Given the description of an element on the screen output the (x, y) to click on. 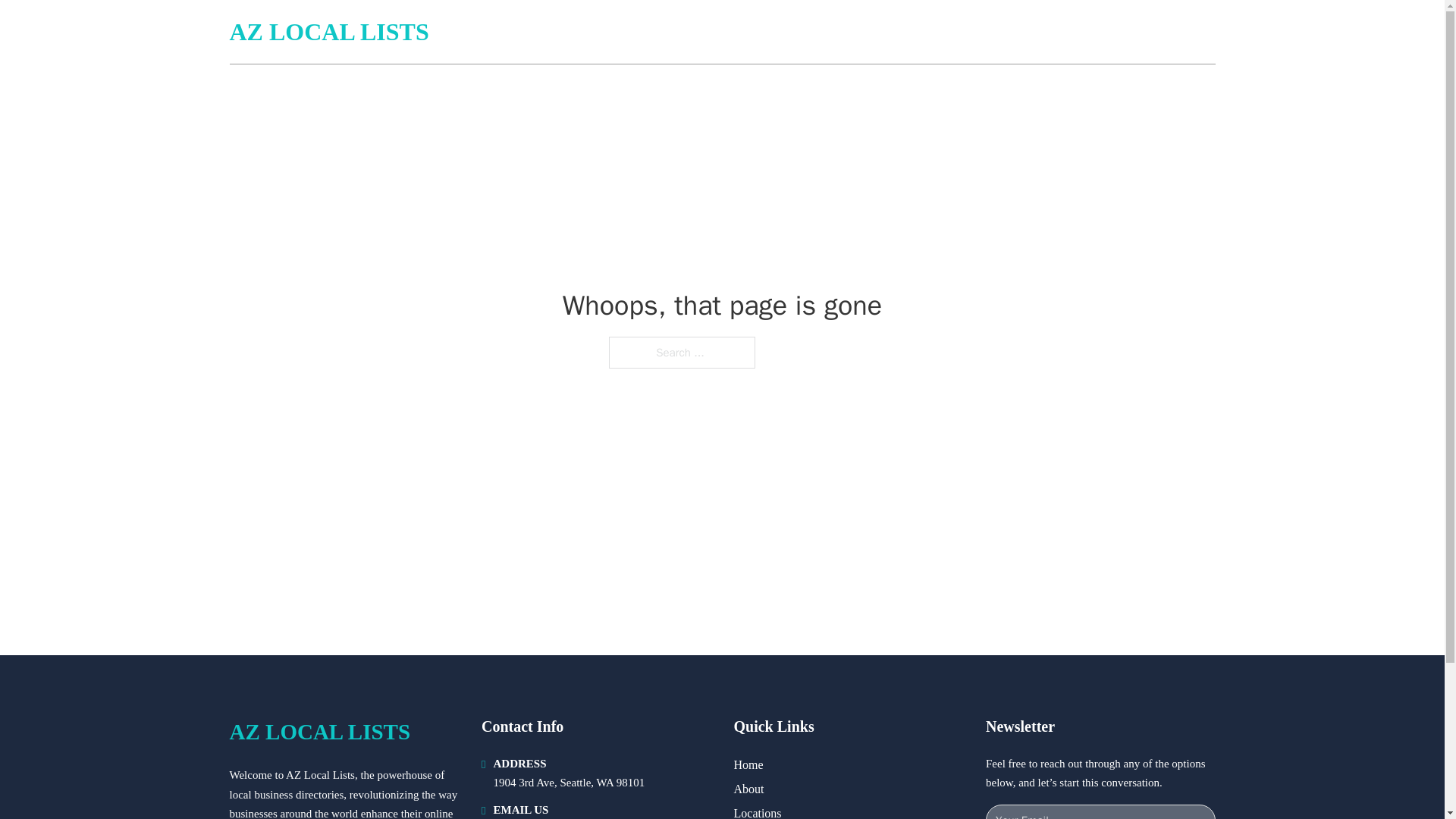
Home (747, 764)
About (748, 788)
LOCATIONS (1105, 31)
AZ LOCAL LISTS (328, 31)
Locations (757, 811)
AZ LOCAL LISTS (319, 732)
HOME (1032, 31)
